Given the description of an element on the screen output the (x, y) to click on. 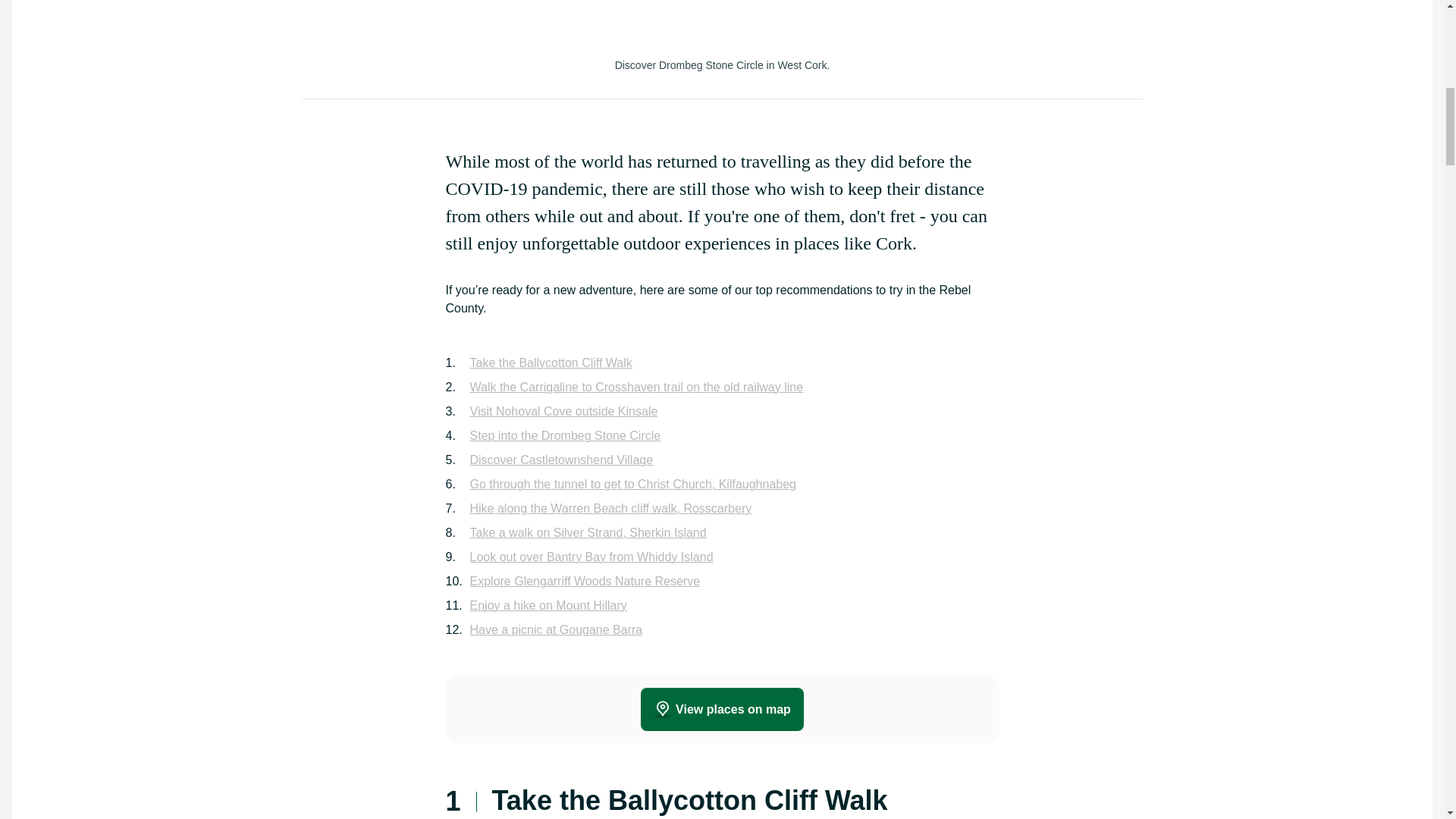
Have a picnic at Gougane Barra (556, 629)
Step into the Drombeg Stone Circle (565, 435)
View places on map (721, 708)
Look out over Bantry Bay from Whiddy Island (591, 556)
Discover Castletownshend Village (561, 460)
Take the Ballycotton Cliff Walk (550, 362)
Visit Nohoval Cove outside Kinsale (564, 411)
Hike along the Warren Beach cliff walk, Rosscarbery (611, 508)
Enjoy a hike on Mount Hillary (548, 606)
Go through the tunnel to get to Christ Church, Kilfaughnabeg (633, 484)
Explore Glengarriff Woods Nature Reserve (585, 581)
Take a walk on Silver Strand, Sherkin Island (588, 533)
